Given the description of an element on the screen output the (x, y) to click on. 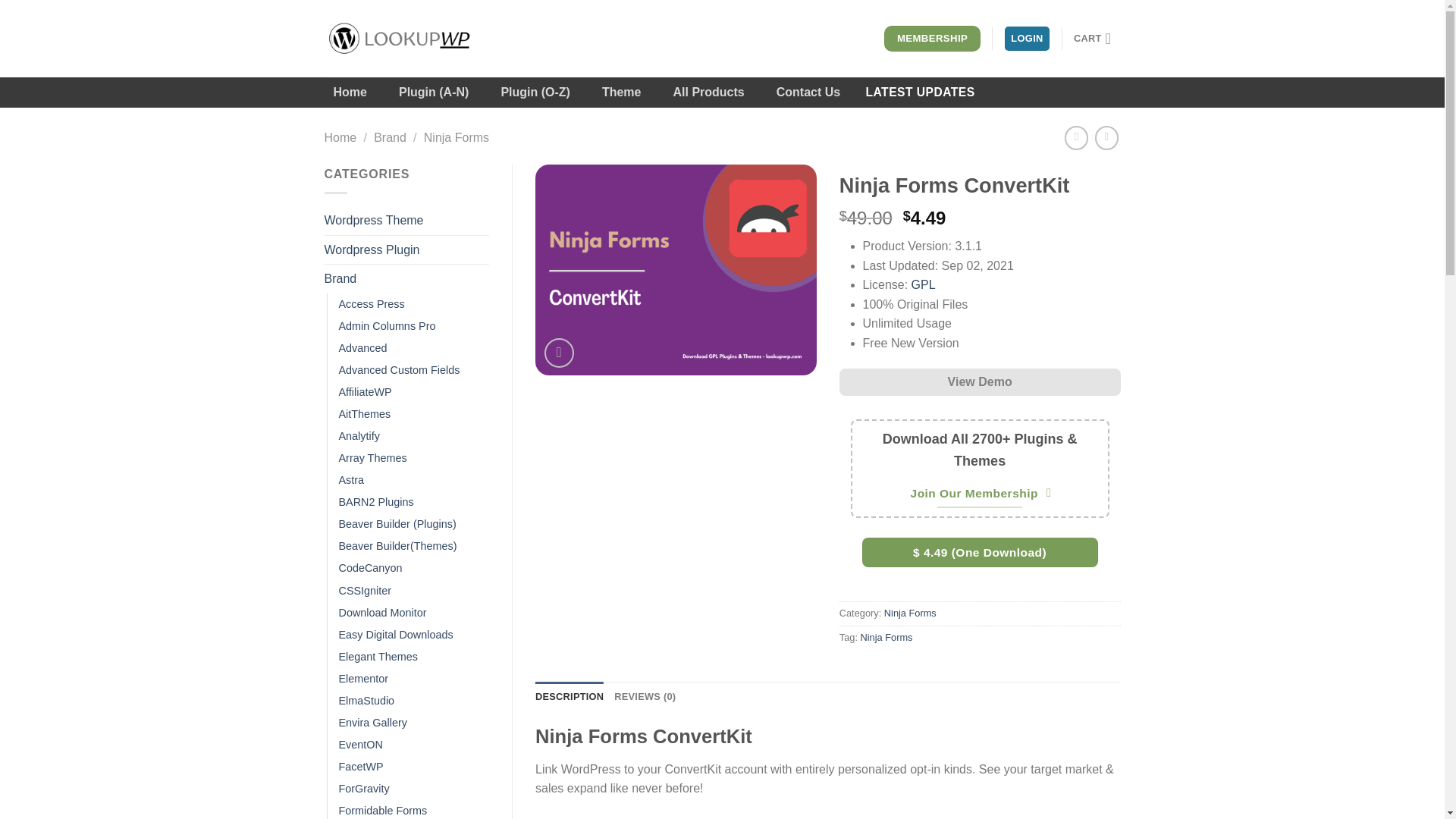
Wordpress Theme (406, 220)
Download Monitor (381, 612)
CSSIgniter (364, 590)
Zoom (558, 352)
LATEST UPDATES (919, 91)
Admin Columns Pro (386, 326)
Home (349, 91)
CART (1097, 38)
All Products (707, 91)
Contact Us (807, 91)
BARN2 Plugins (375, 502)
CodeCanyon (369, 568)
AffiliateWP (364, 392)
Home (340, 137)
AitThemes (363, 414)
